Given the description of an element on the screen output the (x, y) to click on. 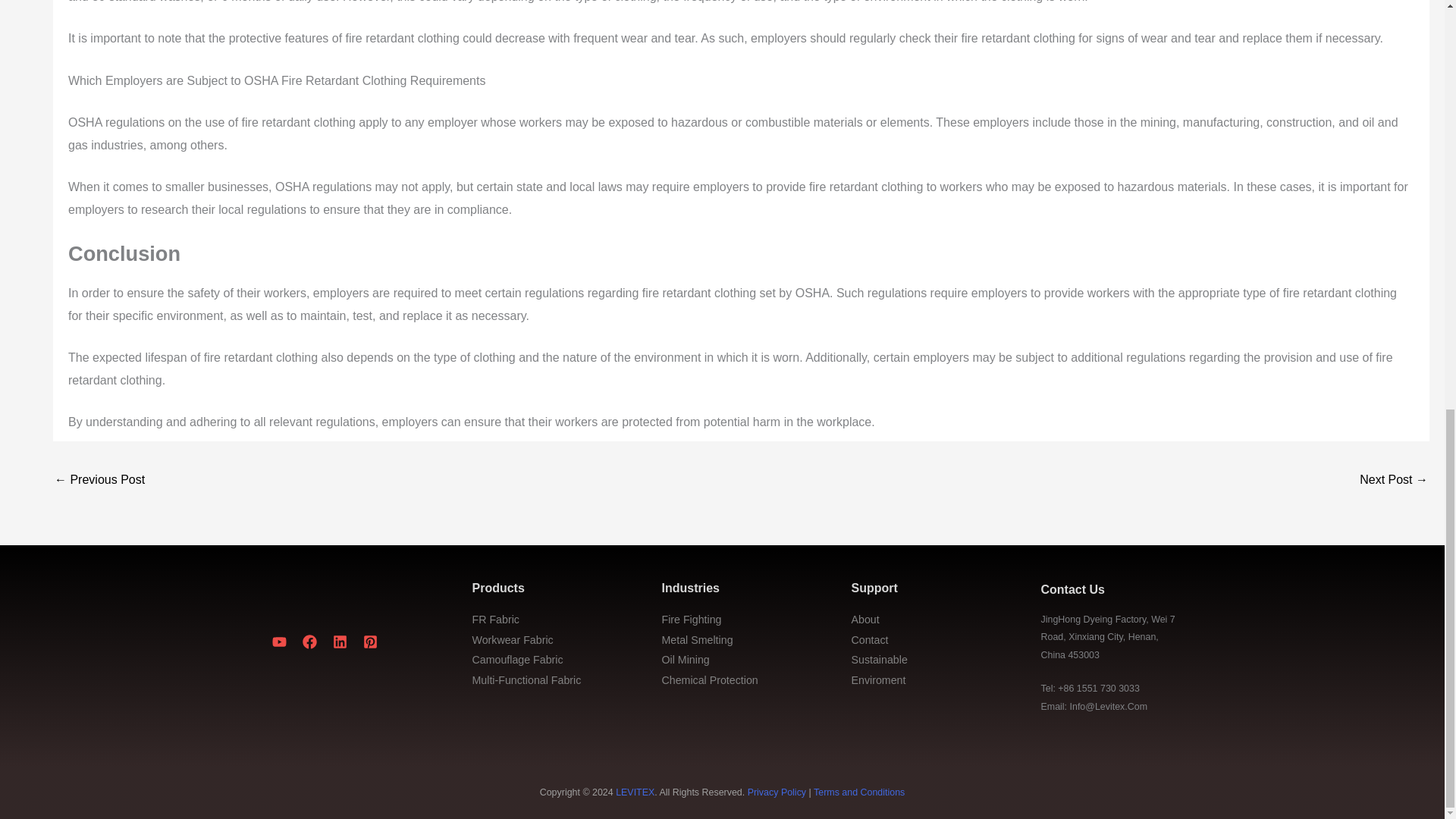
When to Replace Your Arc Flash Suit: An In-Depth Guide? (1393, 480)
Is most fabric in modern clothing arc rated? (99, 480)
